Given the description of an element on the screen output the (x, y) to click on. 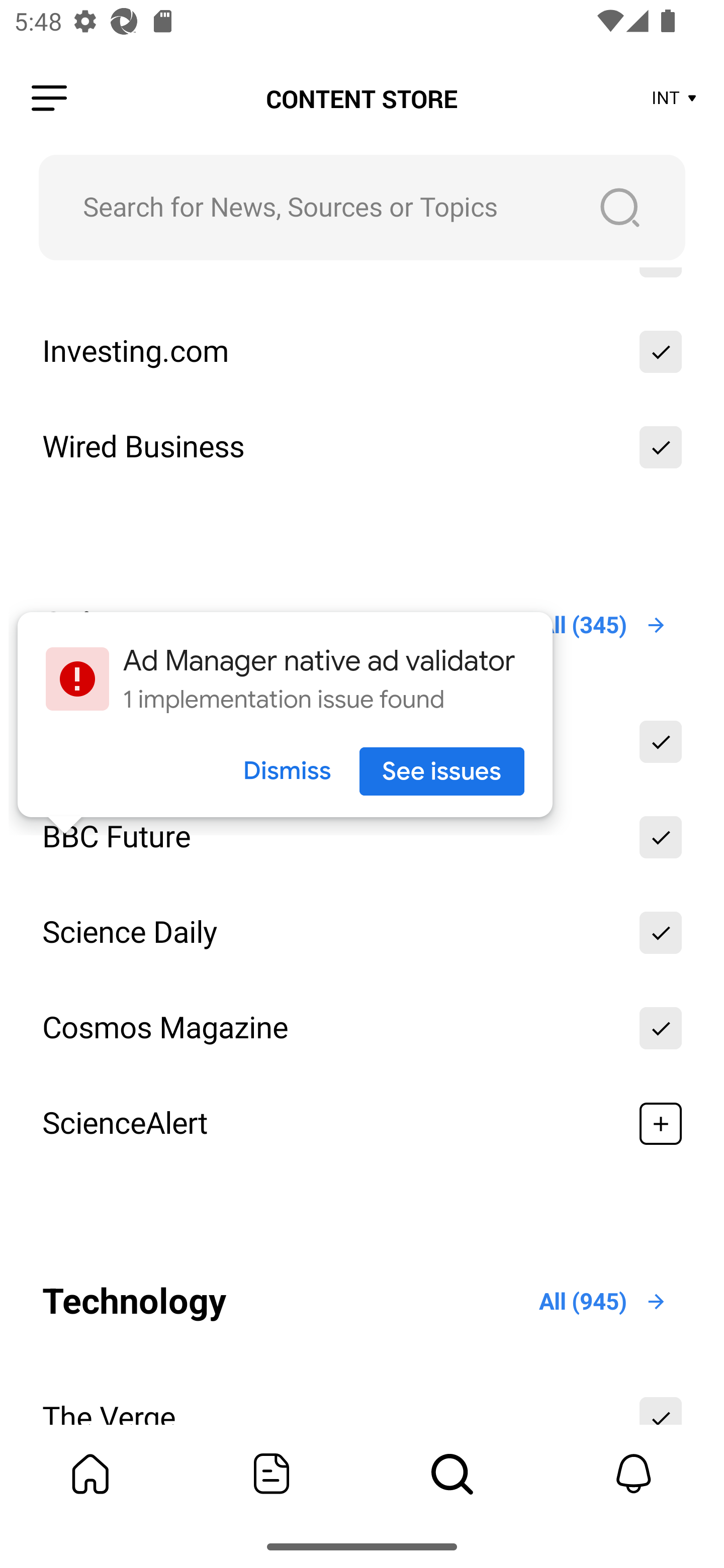
INT Store Area (674, 98)
Leading Icon (49, 98)
Search for News, Sources or Topics Search Button (361, 207)
Investing.com Add To My Bundle (361, 350)
Add To My Bundle (660, 350)
Wired Business Add To My Bundle (361, 446)
Add To My Bundle (660, 446)
All (345) Open All Icon (603, 625)
Add To My Bundle (660, 741)
BBC Future Add To My Bundle (361, 836)
Add To My Bundle (660, 836)
Science Daily Add To My Bundle (361, 932)
Add To My Bundle (660, 932)
Cosmos Magazine Add To My Bundle (361, 1028)
Add To My Bundle (660, 1028)
ScienceAlert Add To My Bundle (361, 1123)
Add To My Bundle (660, 1123)
All (945) Open All Icon (603, 1301)
My Bundle (90, 1473)
Featured (271, 1473)
Notifications (633, 1473)
